Given the description of an element on the screen output the (x, y) to click on. 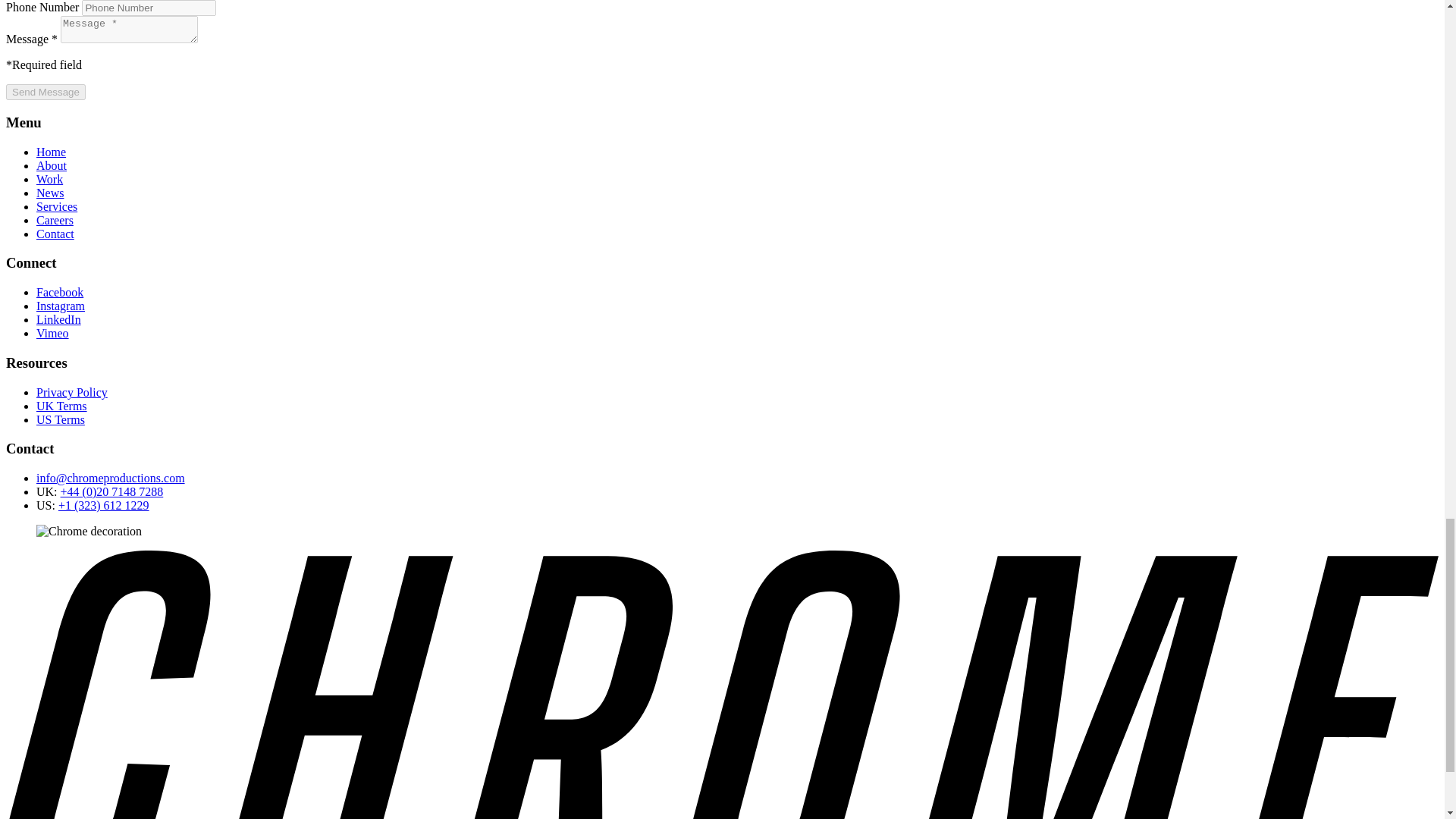
Facebook (59, 291)
UK Terms (61, 405)
Instagram (60, 305)
US Terms (60, 419)
Work (49, 178)
Home (50, 151)
View Facebook profile (59, 291)
Services (56, 205)
View Instagram profile (60, 305)
About (51, 164)
Vimeo (52, 332)
LinkedIn (58, 318)
View Vimeo profile (52, 332)
View LinkedIn profile (58, 318)
Privacy Policy (71, 391)
